Given the description of an element on the screen output the (x, y) to click on. 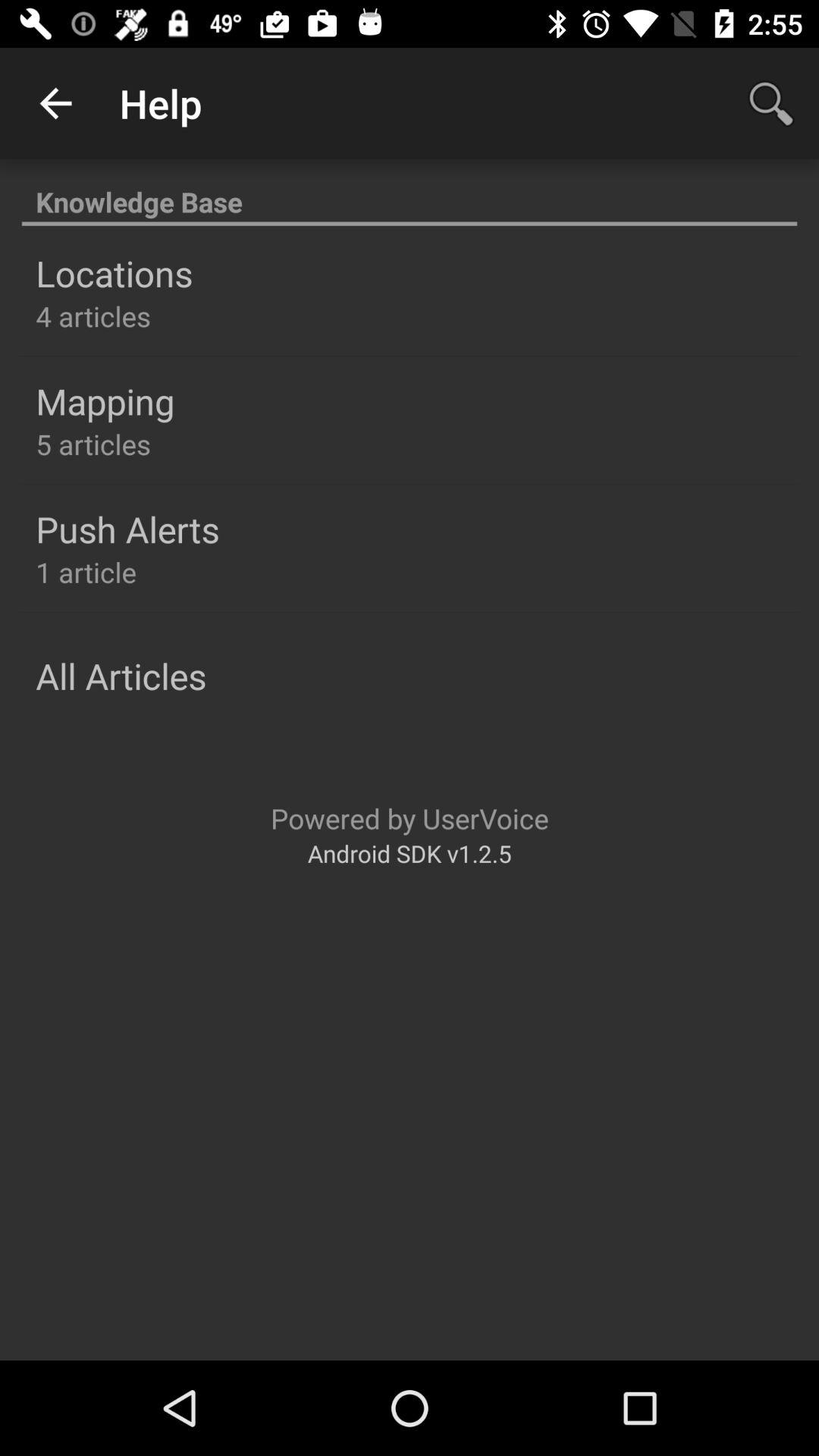
turn on knowledge base item (409, 193)
